Given the description of an element on the screen output the (x, y) to click on. 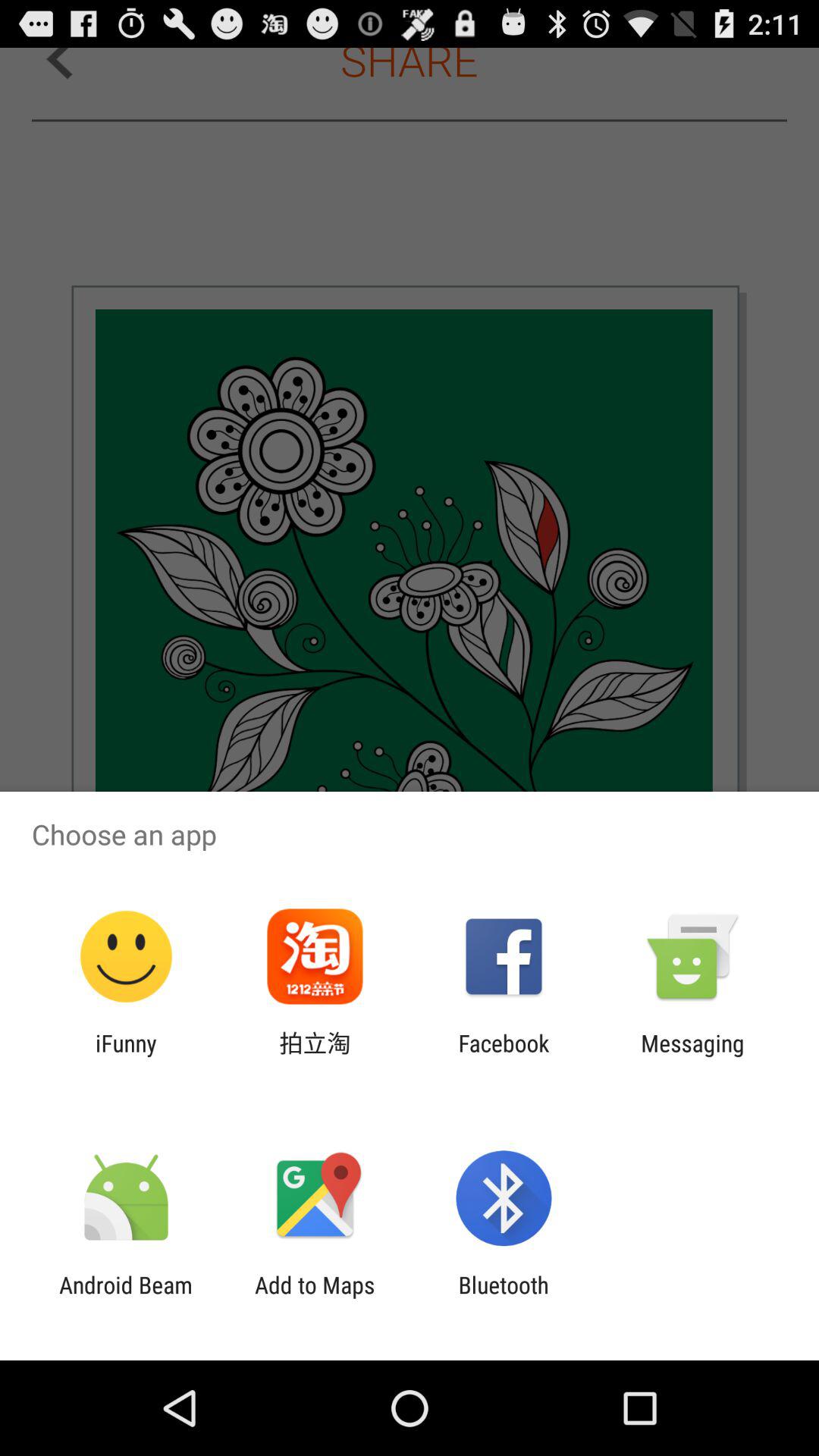
open the icon at the bottom right corner (692, 1056)
